Given the description of an element on the screen output the (x, y) to click on. 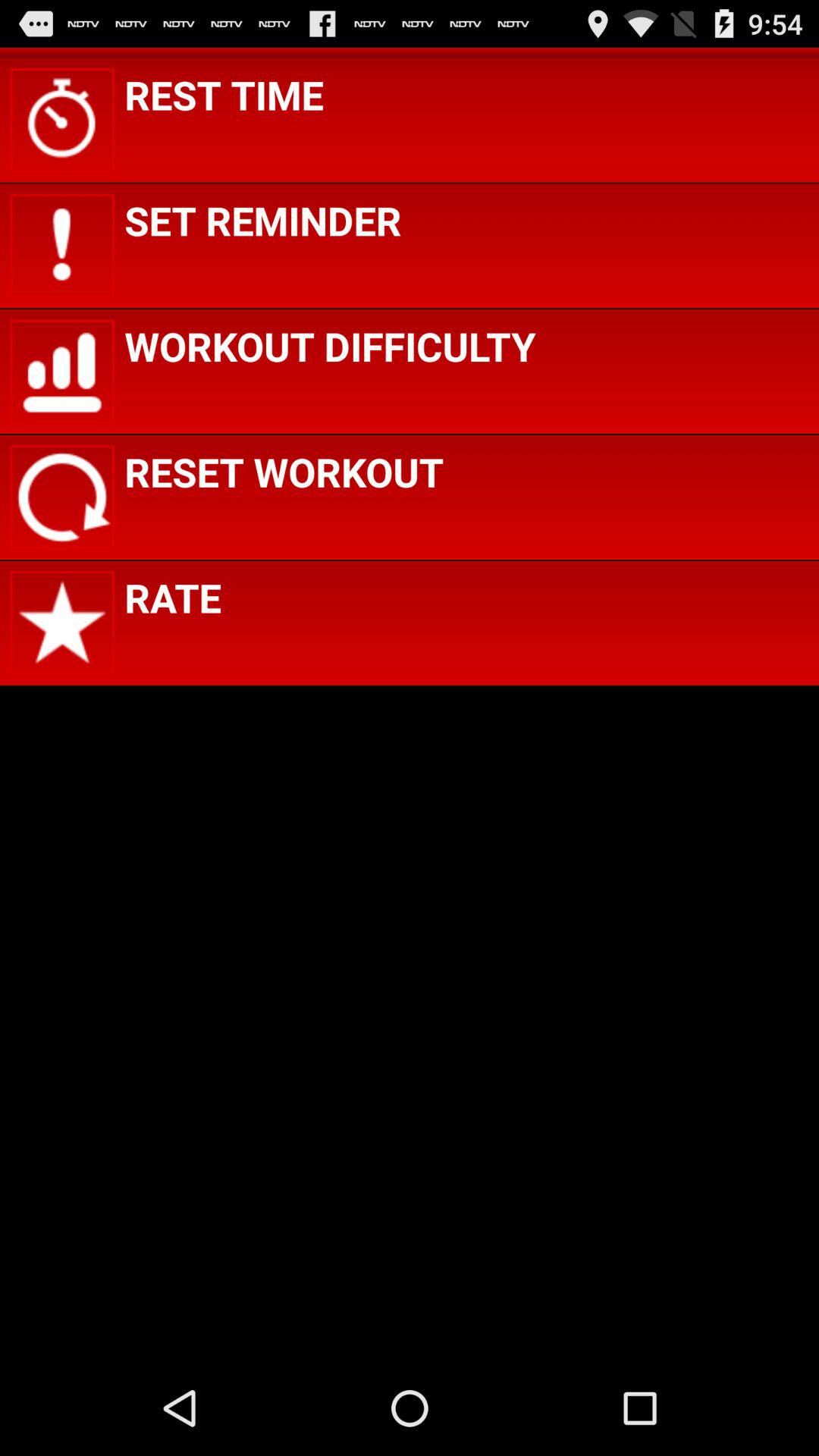
flip until the rest time icon (223, 94)
